Given the description of an element on the screen output the (x, y) to click on. 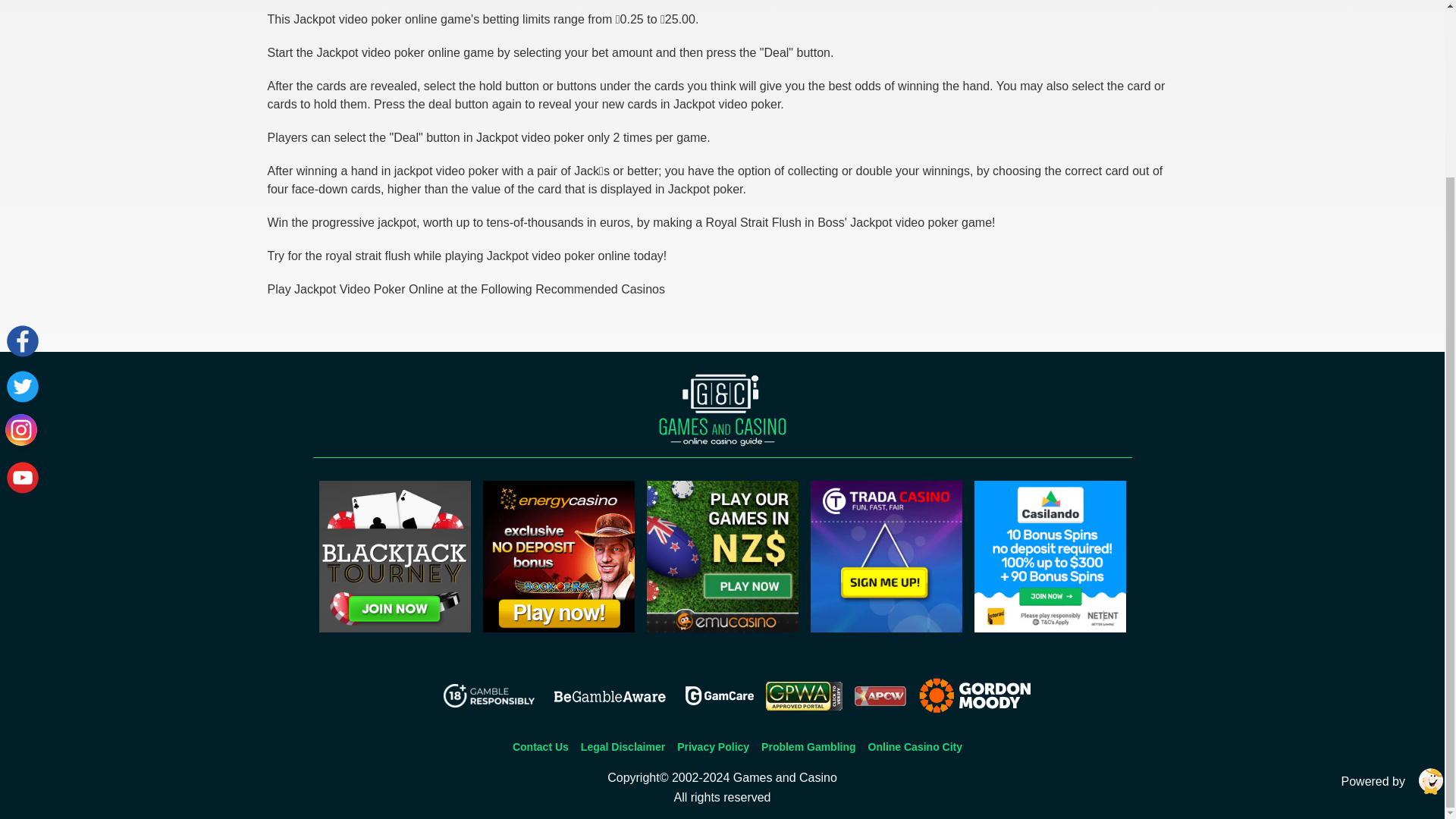
TradaCasino (884, 627)
EmuCasino (721, 627)
Vegas Crest Casino (394, 627)
Casilando (1049, 627)
EnergyCasino (557, 627)
Games and Casinos - online casino guide (722, 409)
